Given the description of an element on the screen output the (x, y) to click on. 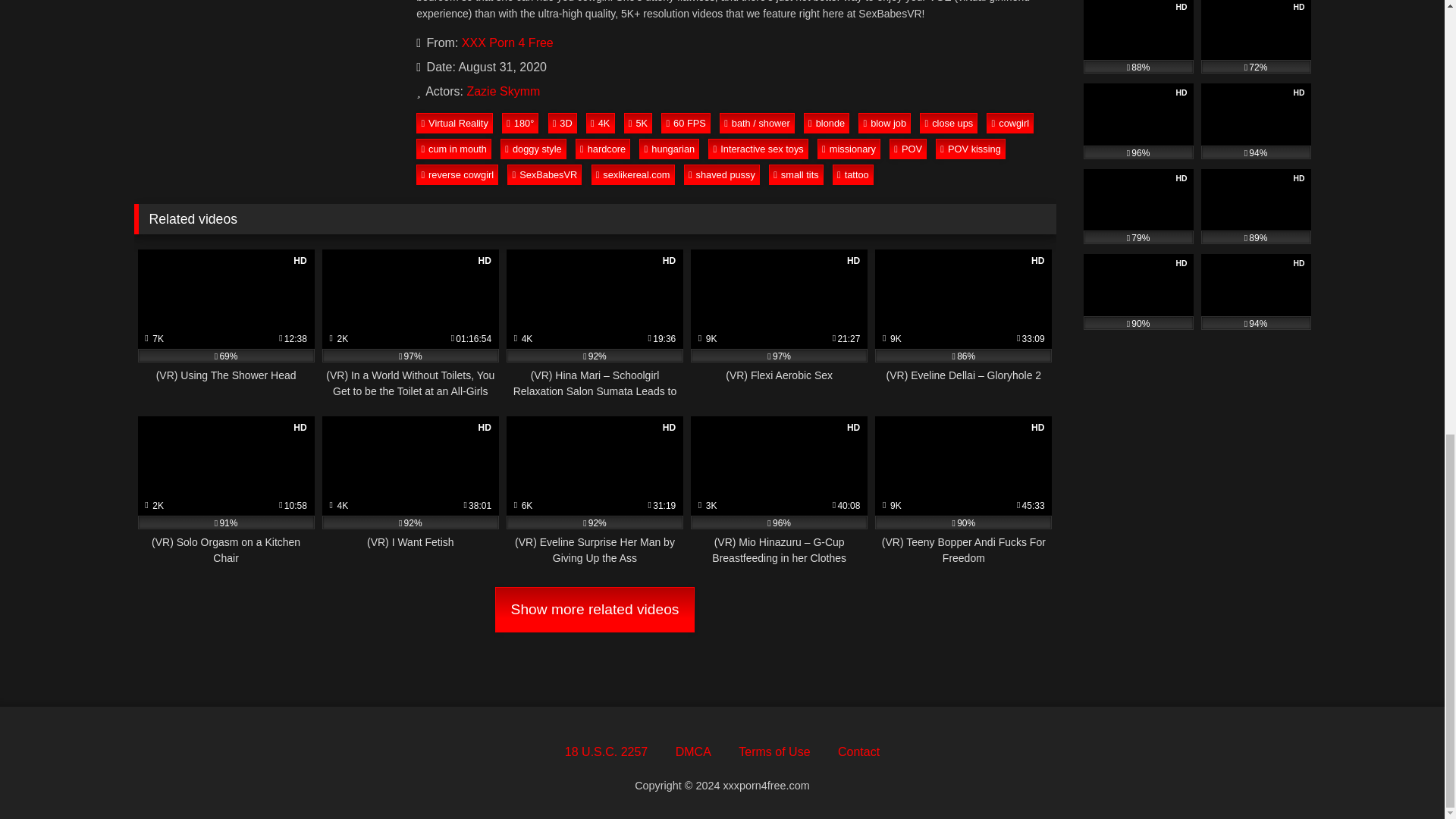
3D (562, 122)
missionary (848, 148)
cum in mouth (454, 148)
4K (600, 122)
blonde (825, 122)
Virtual Reality (454, 122)
5K (638, 122)
blow job (885, 122)
Virtual Reality (454, 122)
hardcore (602, 148)
POV (907, 148)
doggy style (533, 148)
blonde (825, 122)
Interactive sex toys (757, 148)
60 FPS (685, 122)
